Given the description of an element on the screen output the (x, y) to click on. 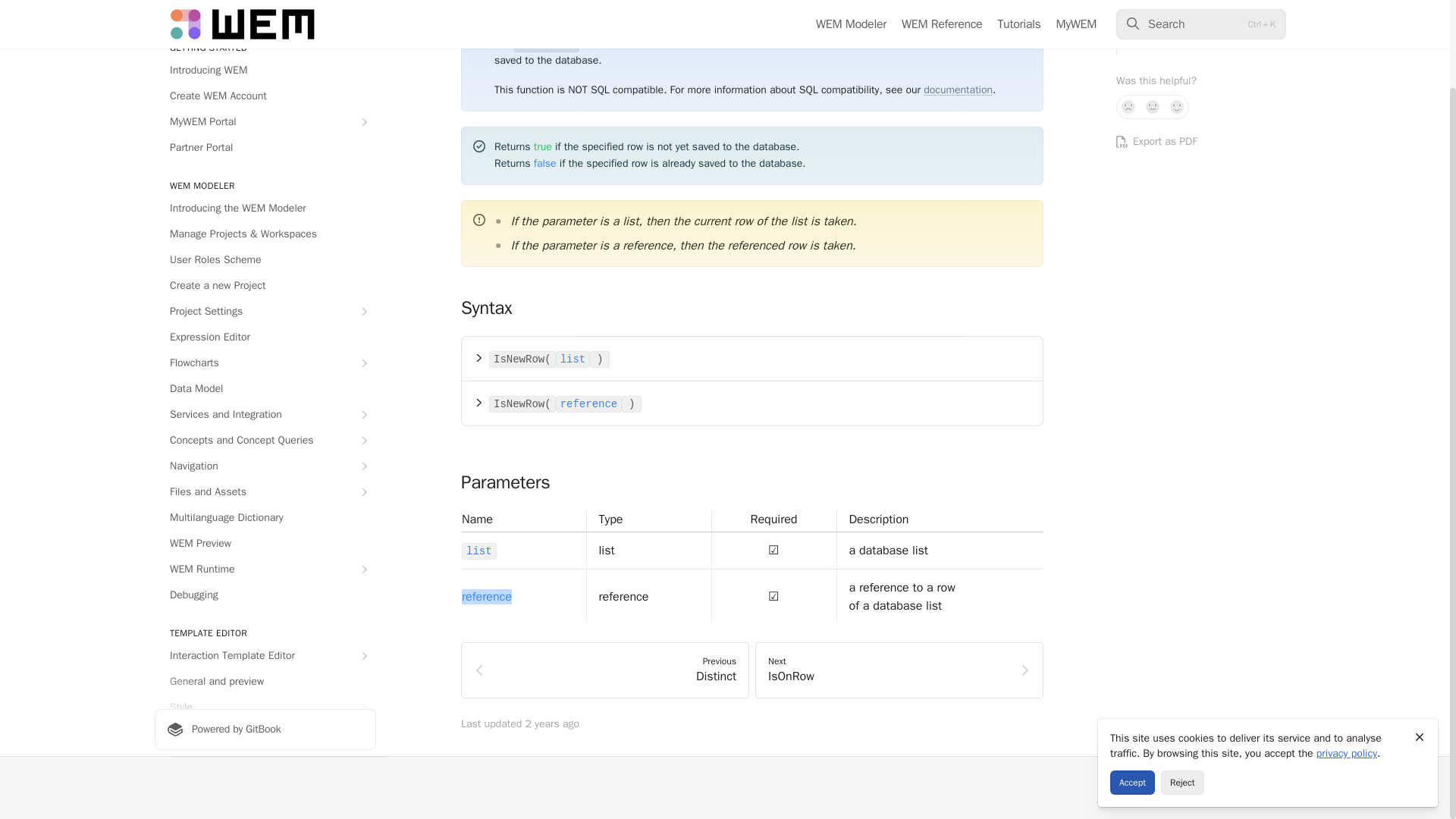
Introducing the WEM Modeler (264, 172)
User Roles Scheme (264, 224)
MyWEM Portal (264, 86)
Introducing WEM (264, 34)
Partner Portal (264, 111)
Create WEM Account (264, 60)
Expression Editor (264, 301)
Project Settings (264, 275)
Flowcharts (264, 327)
Create a new Project (264, 250)
